Given the description of an element on the screen output the (x, y) to click on. 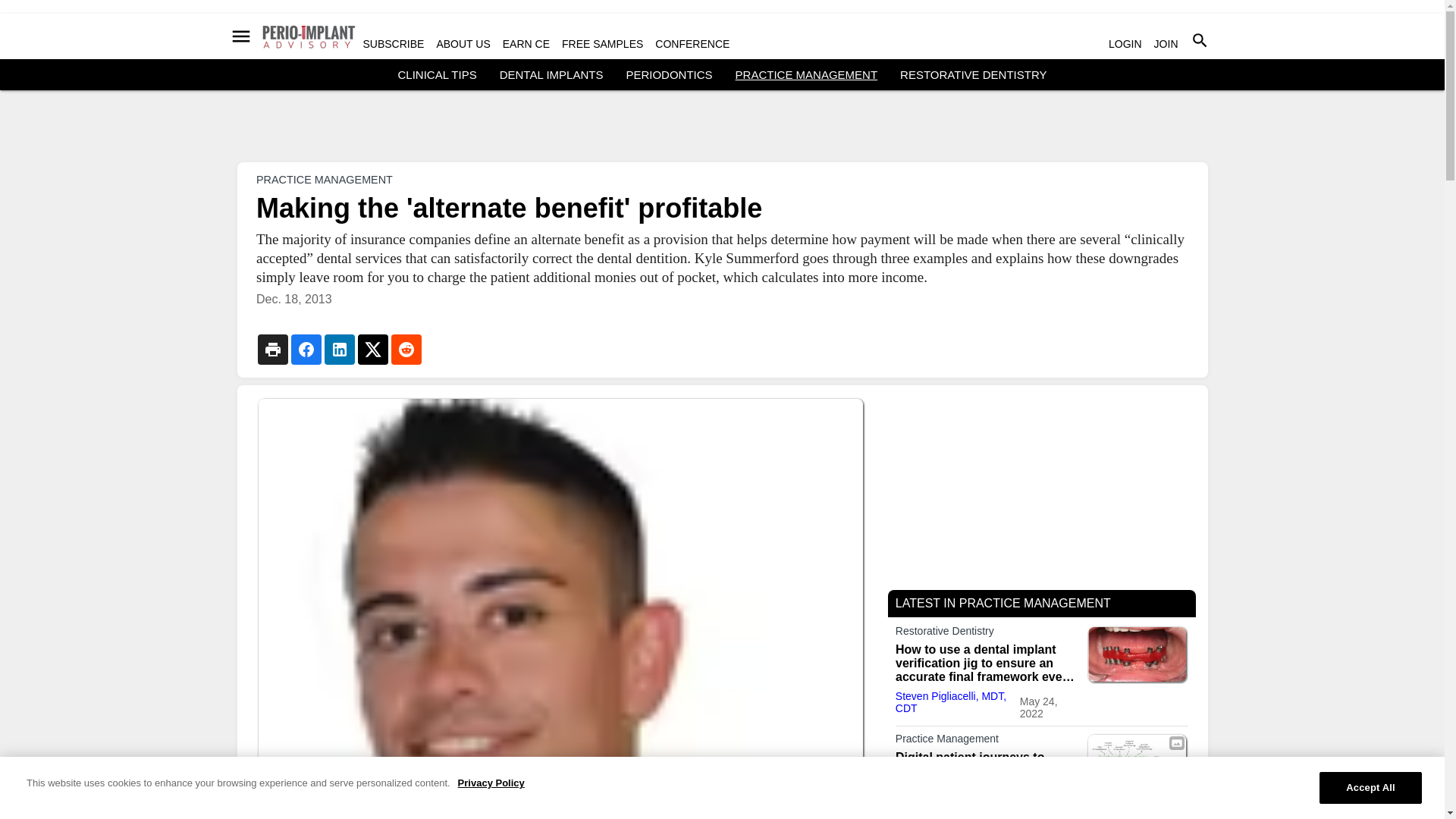
ABOUT US (462, 43)
PRACTICE MANAGEMENT (806, 74)
CONFERENCE (692, 43)
JOIN (1165, 43)
EARN CE (526, 43)
RESTORATIVE DENTISTRY (972, 74)
SUBSCRIBE (392, 43)
LOGIN (1124, 43)
PERIODONTICS (668, 74)
FREE SAMPLES (602, 43)
Immrchris Dreamstime Deadline (1136, 817)
Vaeenma Dreamstime Telehealth Solutions (1136, 761)
PRACTICE MANAGEMENT (324, 179)
